Given the description of an element on the screen output the (x, y) to click on. 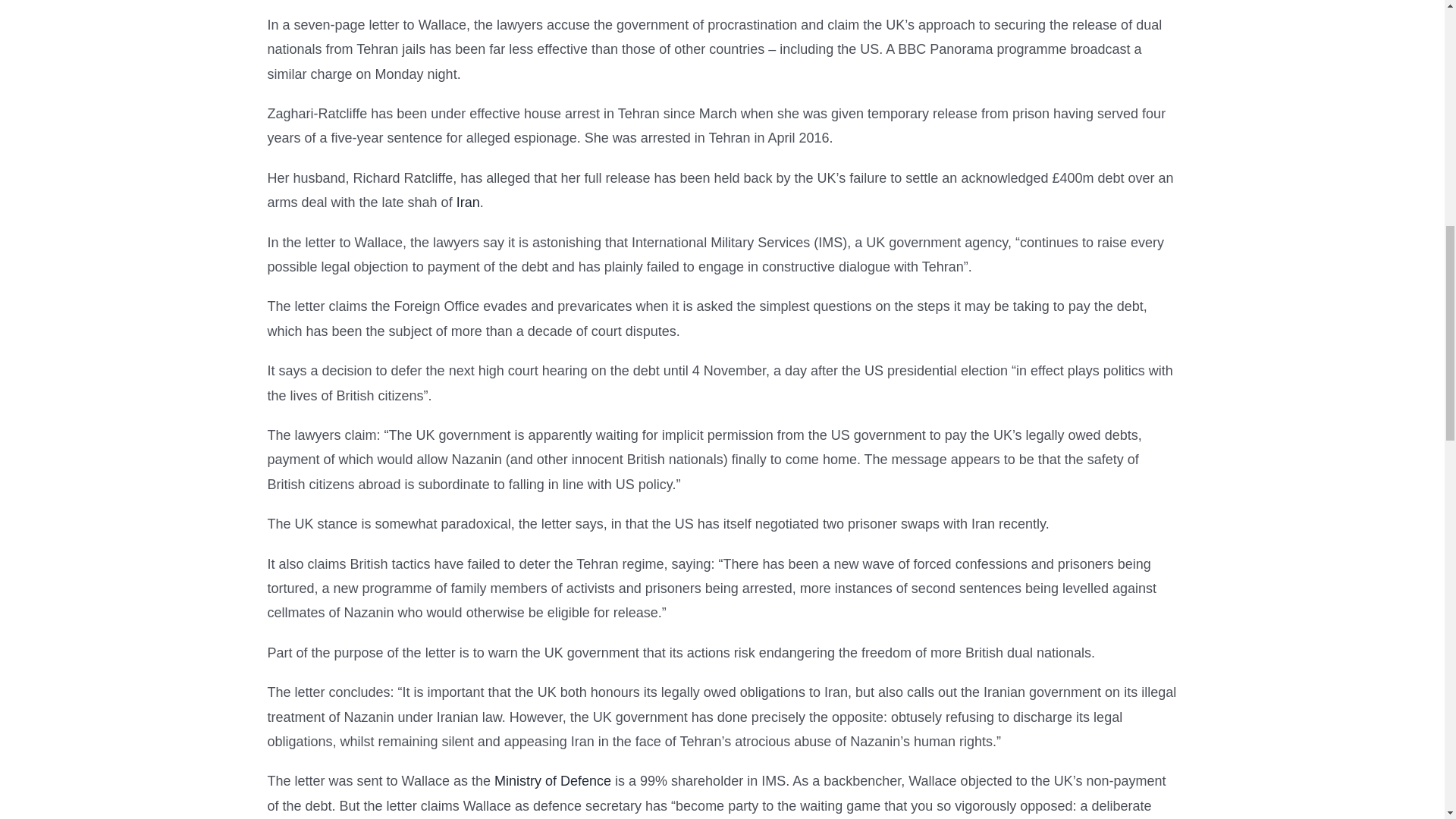
Ministry of Defence (553, 780)
Iran (468, 201)
